Given the description of an element on the screen output the (x, y) to click on. 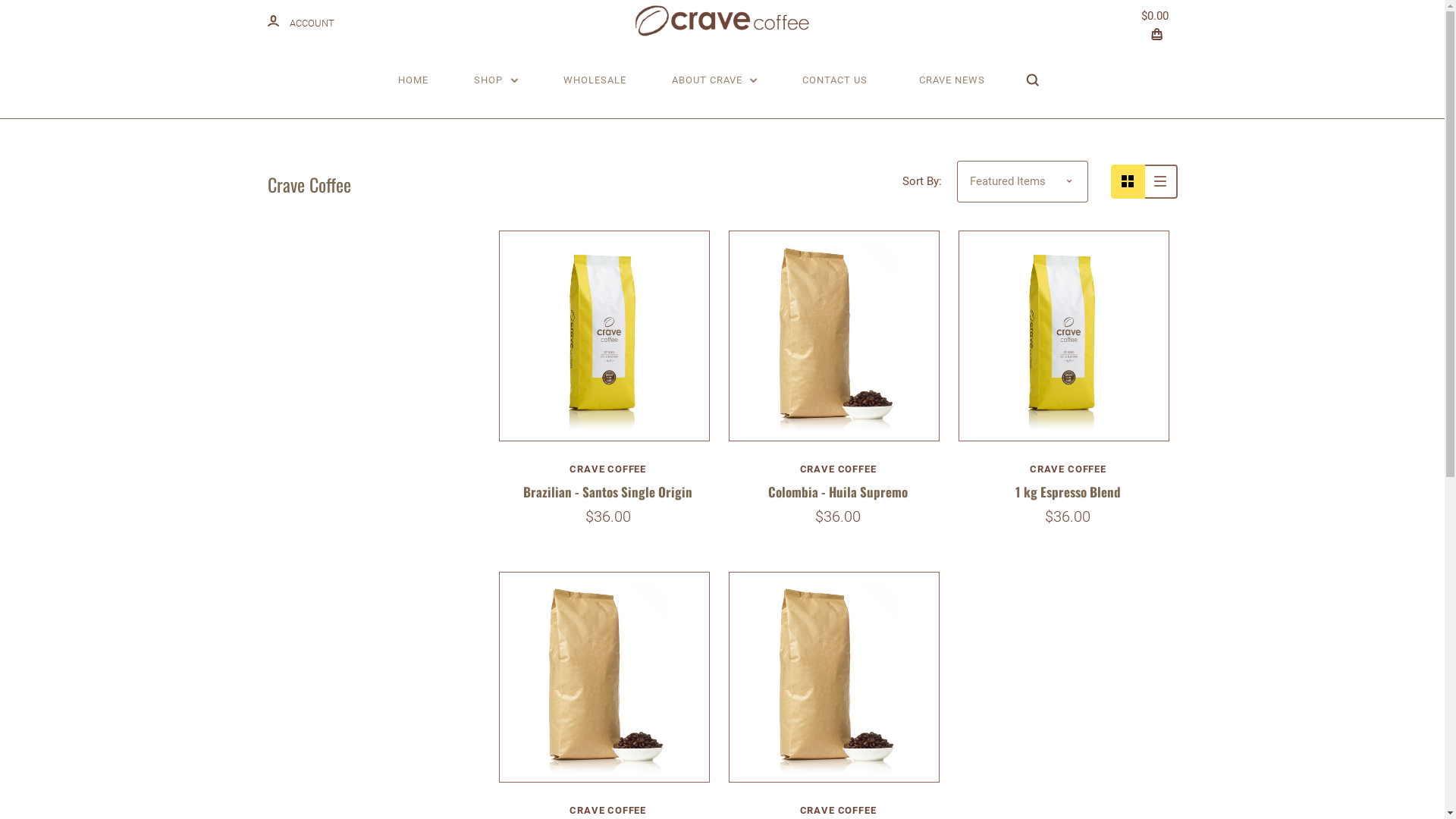
CONTACT US Element type: text (834, 79)
Colombia - Huila Supremo Element type: text (837, 491)
HOME Element type: text (412, 79)
search_icon Element type: text (1032, 80)
ABOUT CRAVE DROPDOWN_ARROW Element type: text (714, 79)
SHOP DROPDOWN_ARROW Element type: text (495, 79)
1 kg Espresso Blend Element type: text (1067, 491)
CRAVE NEWS Element type: text (951, 79)
WHOLESALE Element type: text (594, 79)
Brazilian - Santos Single Origin Element type: text (607, 491)
ACCOUNT ACCOUNT Element type: text (299, 21)
$0.00 bag Element type: text (1158, 21)
